Given the description of an element on the screen output the (x, y) to click on. 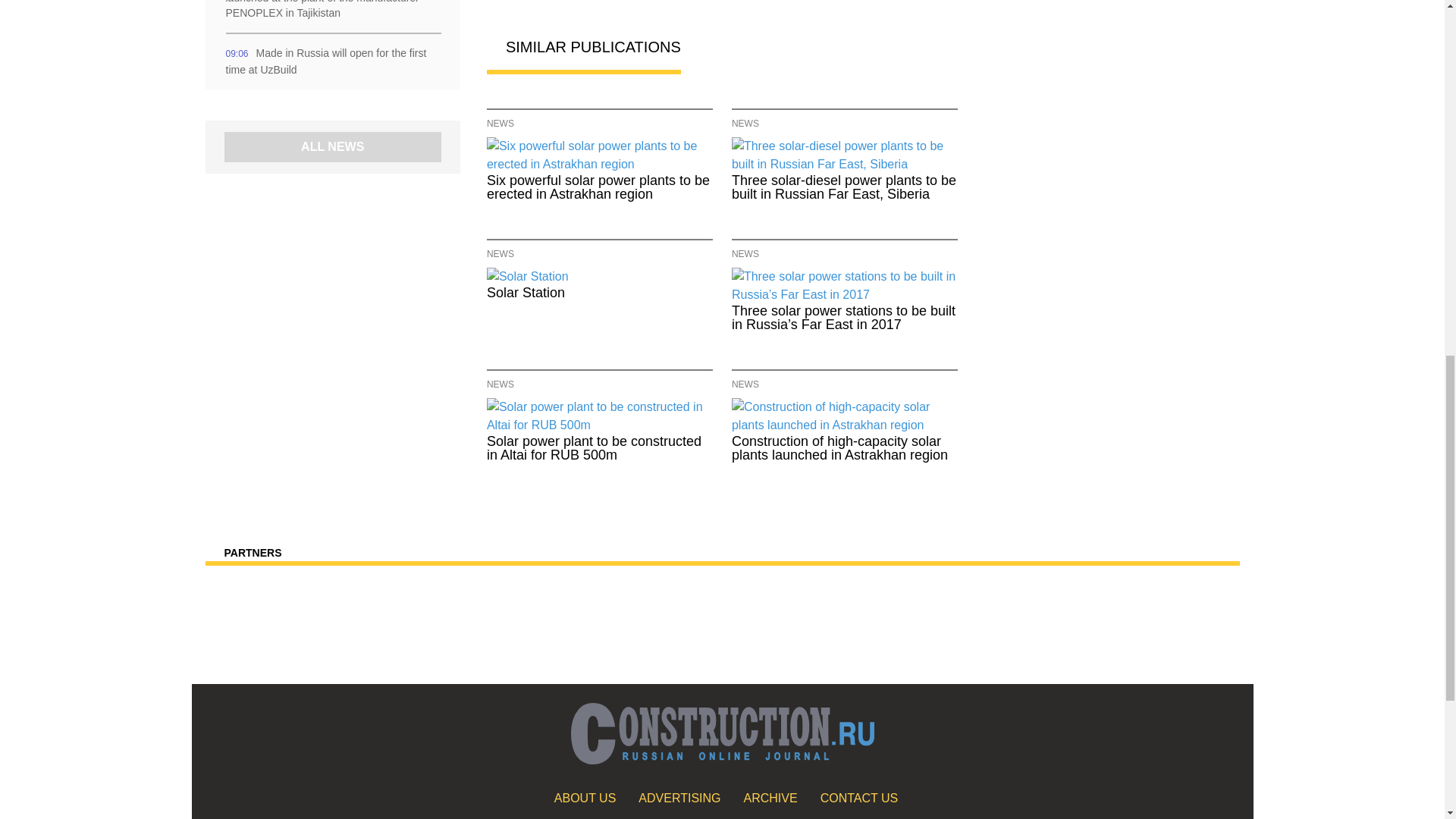
09:06Made in Russia will open for the first time at UzBuild (332, 61)
ALL NEWS (332, 146)
